Given the description of an element on the screen output the (x, y) to click on. 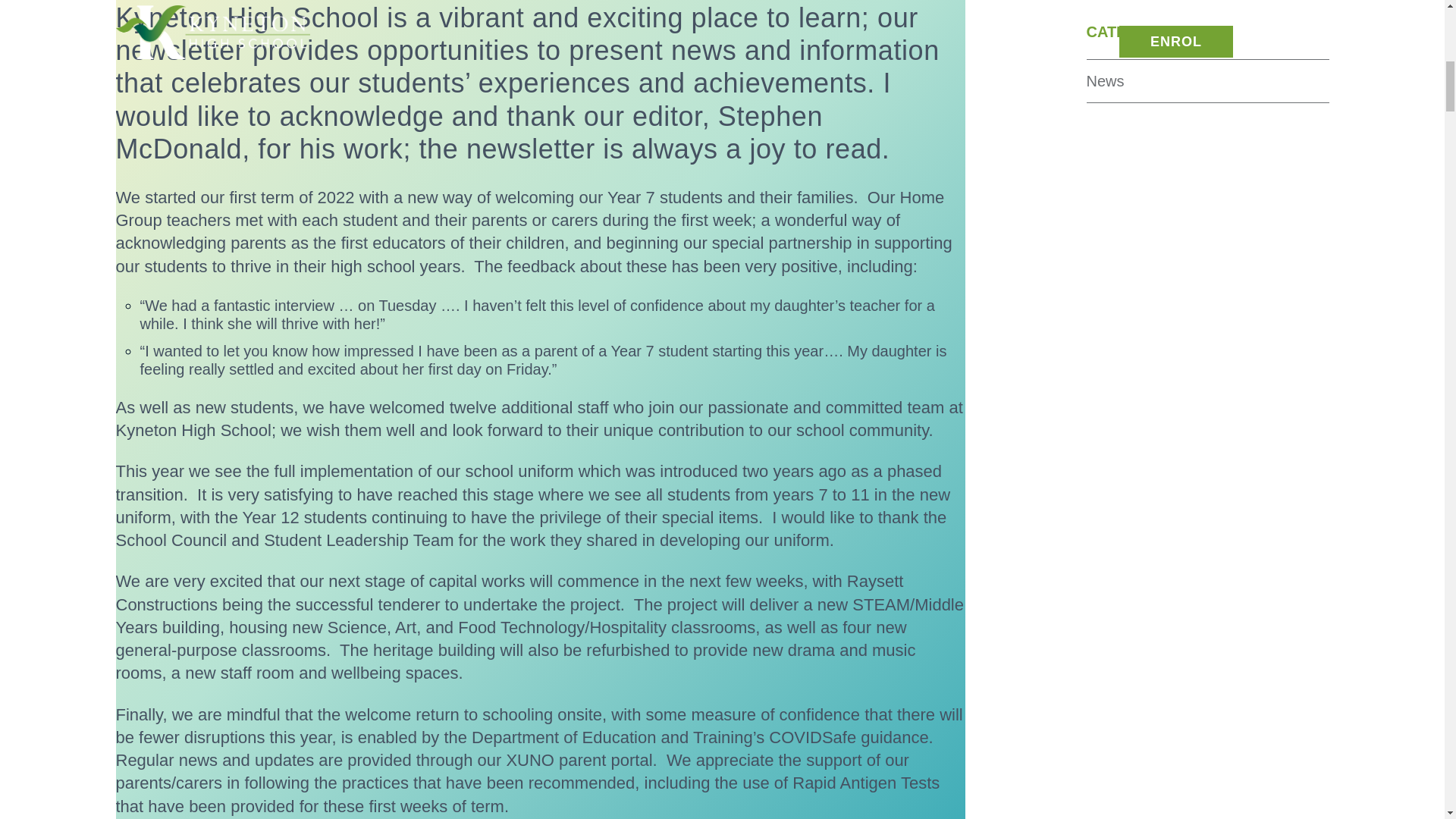
News (1105, 80)
